Given the description of an element on the screen output the (x, y) to click on. 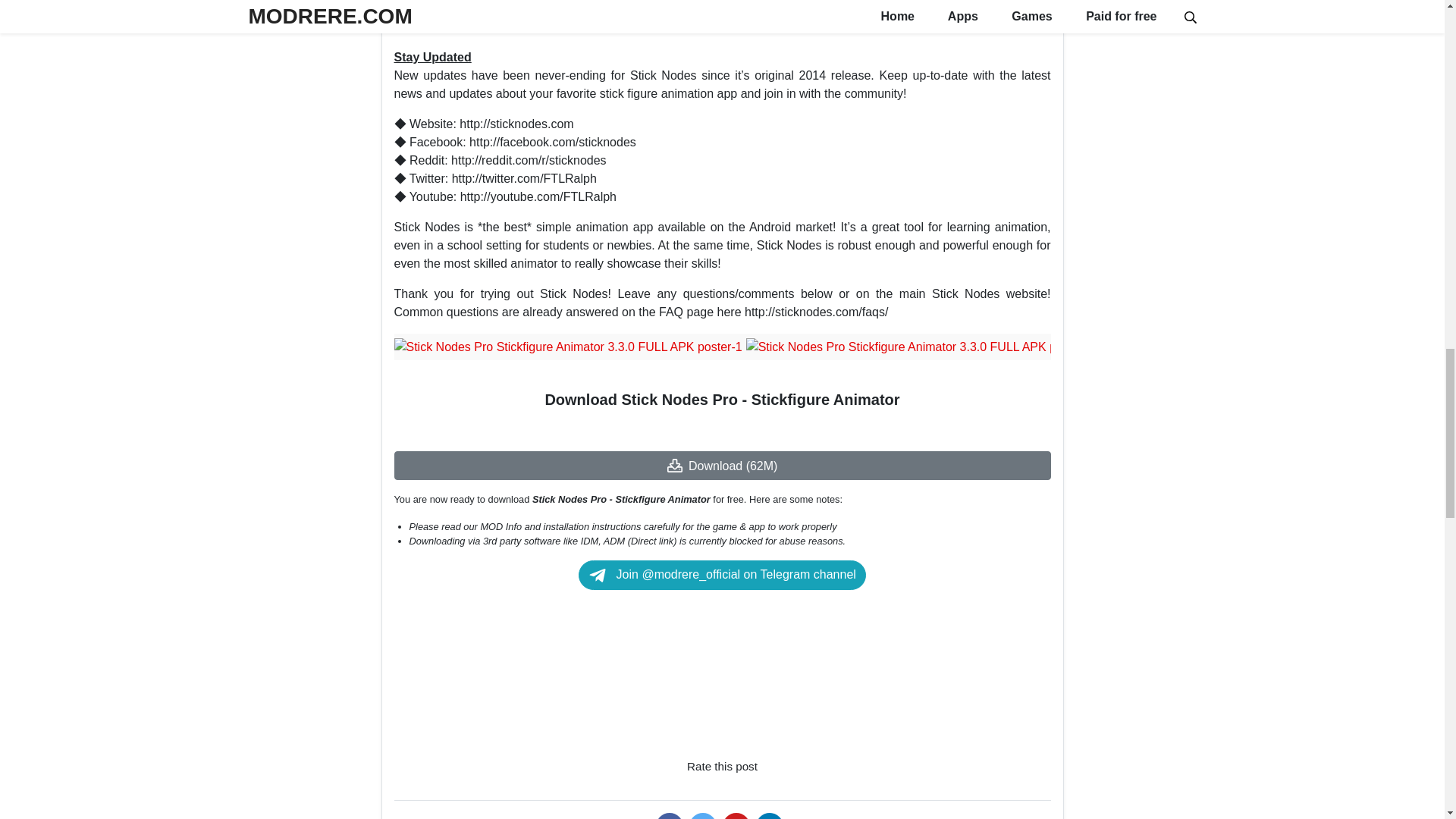
Stick Nodes Pro Stickfigure Animator 3.3.0 FULL APK poster-1 (568, 347)
Stick Nodes Pro Stickfigure Animator 3.3.0 FULL APK poster-2 (919, 347)
